Given the description of an element on the screen output the (x, y) to click on. 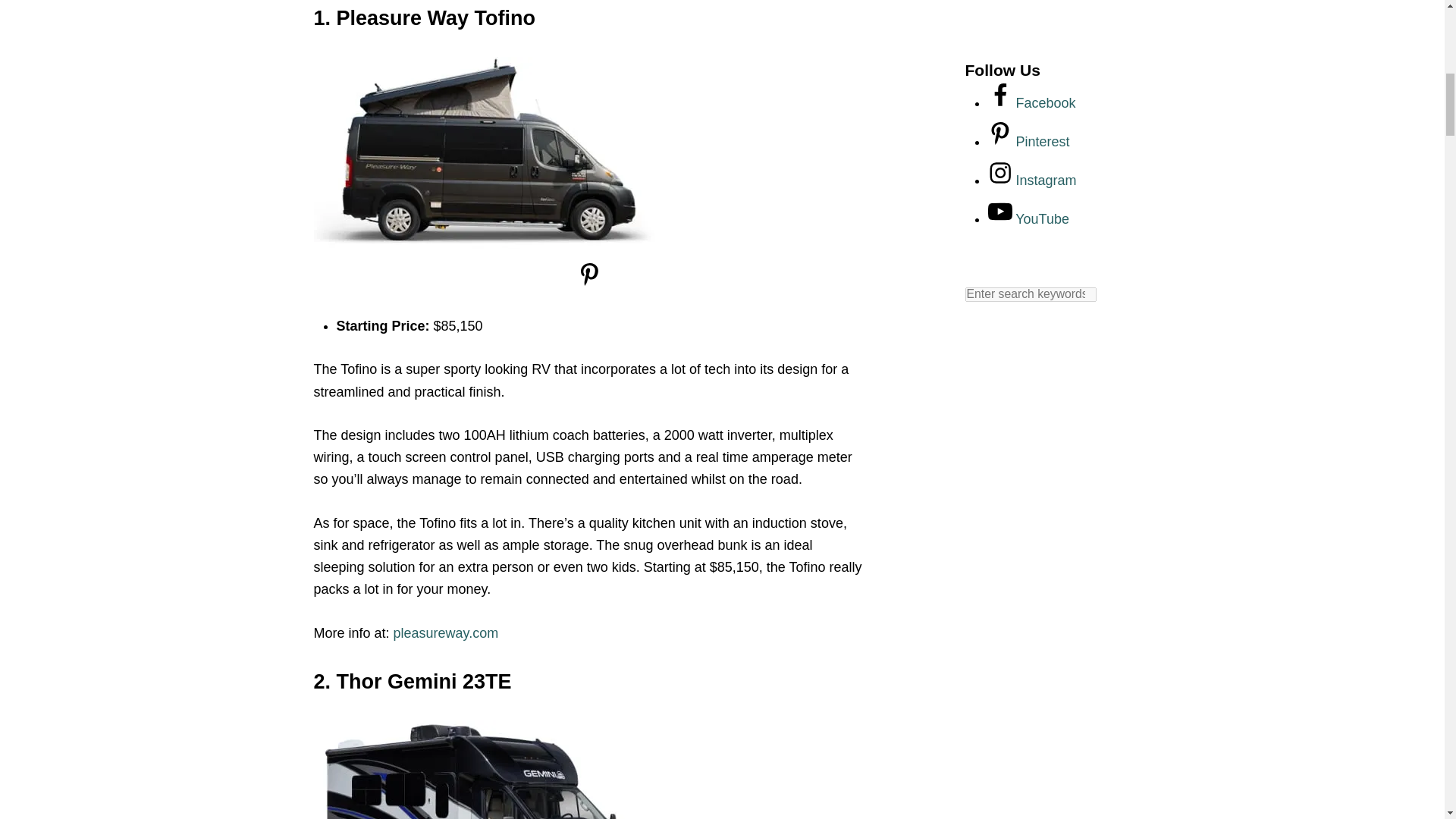
pleasureway.com (446, 632)
Follow on Pinterest (1027, 141)
Follow on YouTube (1027, 218)
Search for: (1029, 294)
Follow on Instagram (1031, 180)
Follow on Facebook (1031, 102)
